Given the description of an element on the screen output the (x, y) to click on. 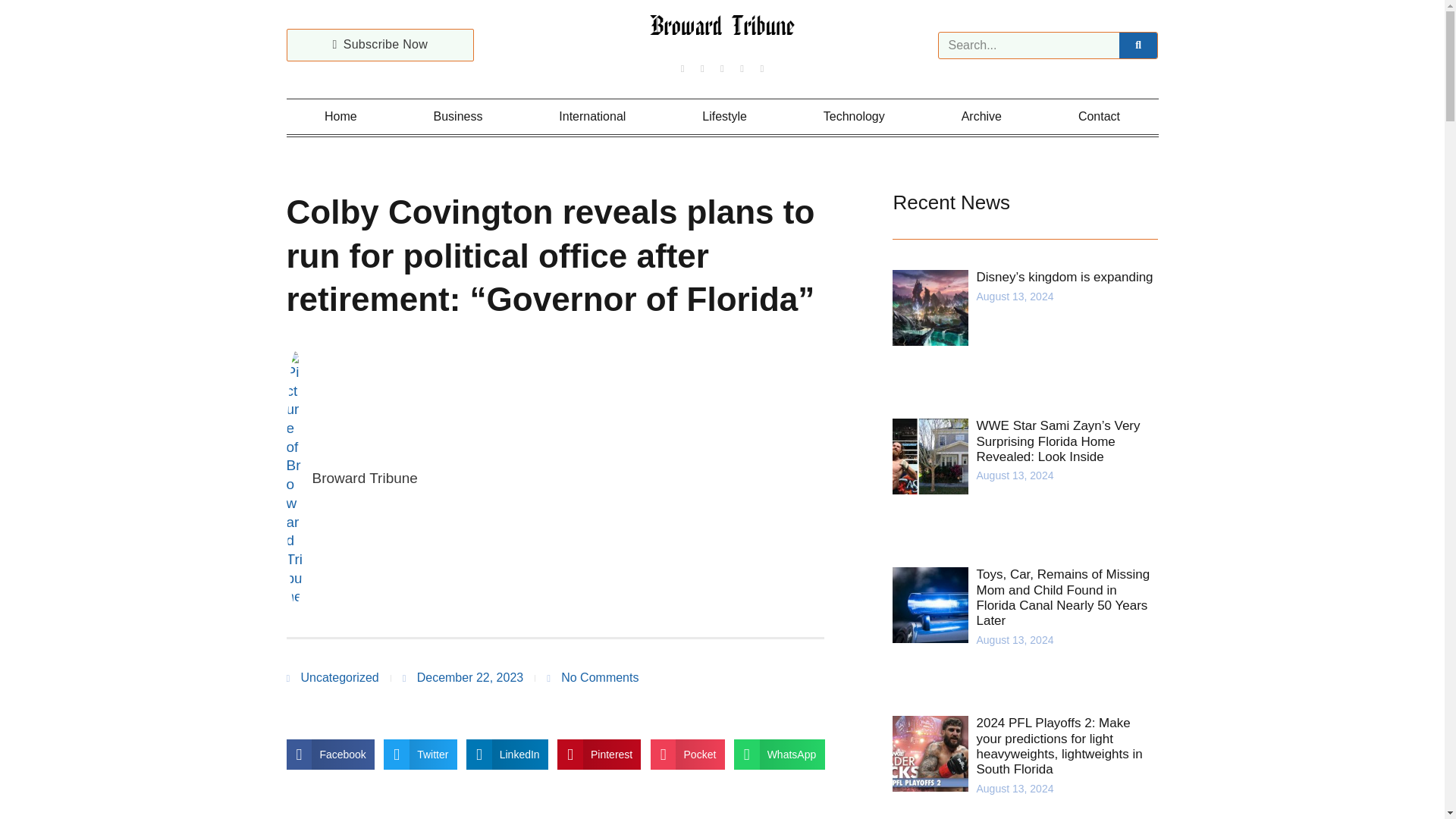
No Comments (593, 677)
International (592, 117)
Business (457, 117)
Subscribe Now (380, 44)
Home (341, 117)
Archive (981, 117)
Lifestyle (724, 117)
Contact (1098, 117)
December 22, 2023 (463, 677)
Technology (853, 117)
